Given the description of an element on the screen output the (x, y) to click on. 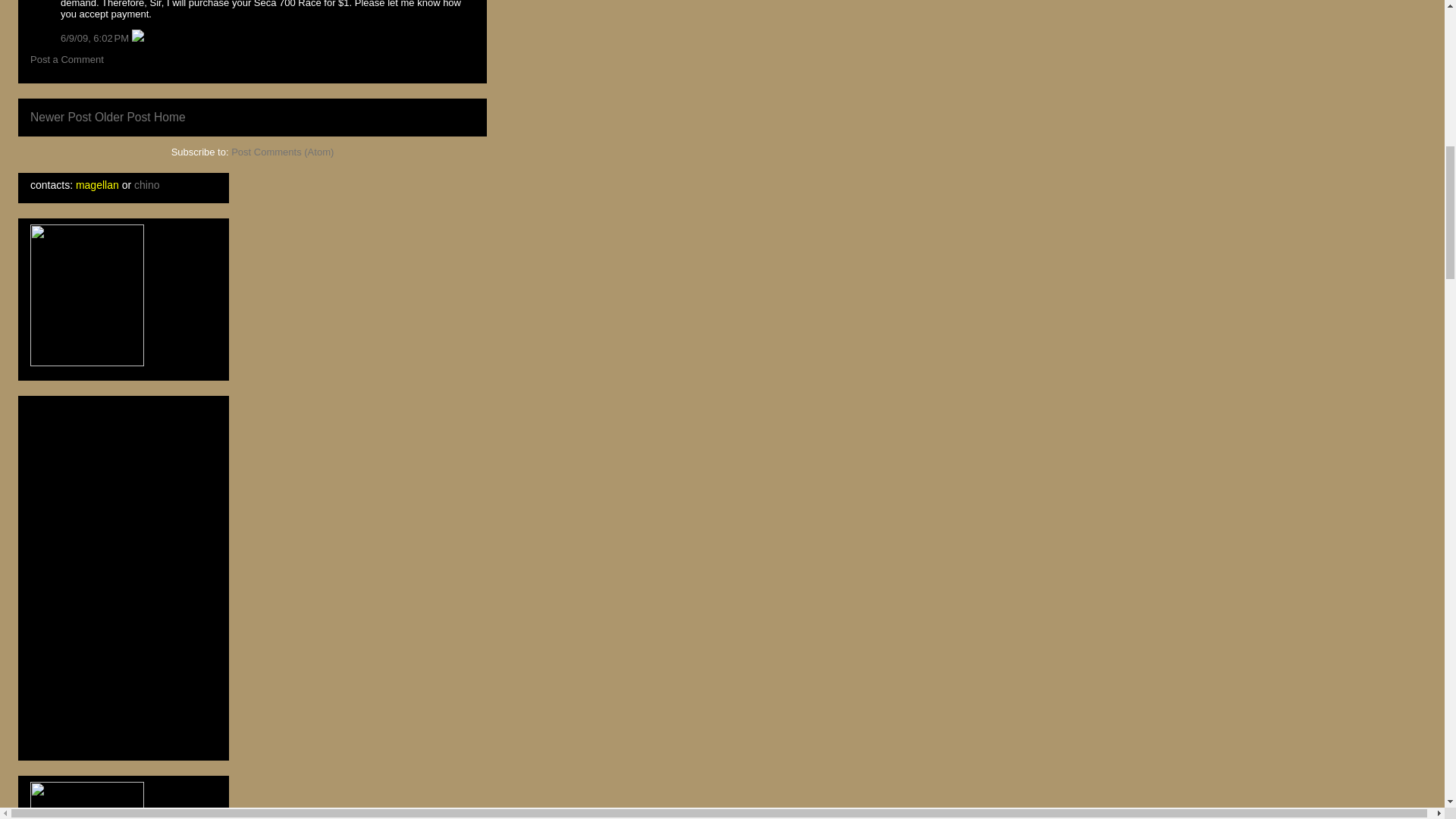
chino (145, 184)
Delete Comment (138, 38)
Older Post (122, 116)
Contact Us (145, 184)
Post a Comment (66, 59)
magellan (97, 184)
Newer Post (60, 116)
Older Post (122, 116)
comment permalink (96, 38)
Newer Post (60, 116)
Home (170, 116)
